Given the description of an element on the screen output the (x, y) to click on. 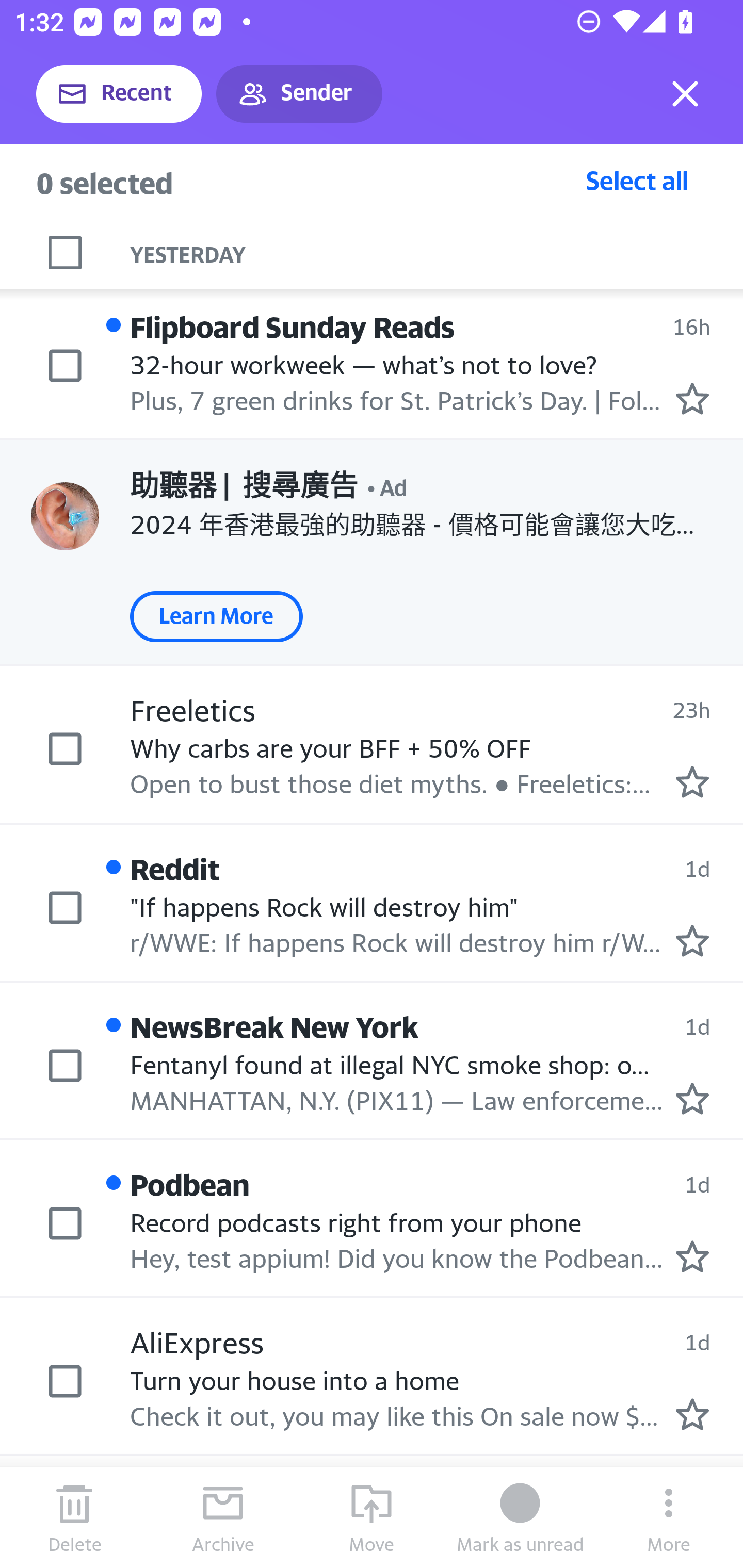
Sender (299, 93)
Exit selection mode (684, 93)
Select all (637, 180)
YESTERDAY (436, 243)
Mark as starred. (692, 399)
Mark as starred. (692, 781)
Mark as starred. (692, 940)
Mark as starred. (692, 1098)
Mark as starred. (692, 1256)
Mark as starred. (692, 1413)
Delete (74, 1517)
Archive (222, 1517)
Move (371, 1517)
Mark as unread (519, 1517)
More (668, 1517)
